Given the description of an element on the screen output the (x, y) to click on. 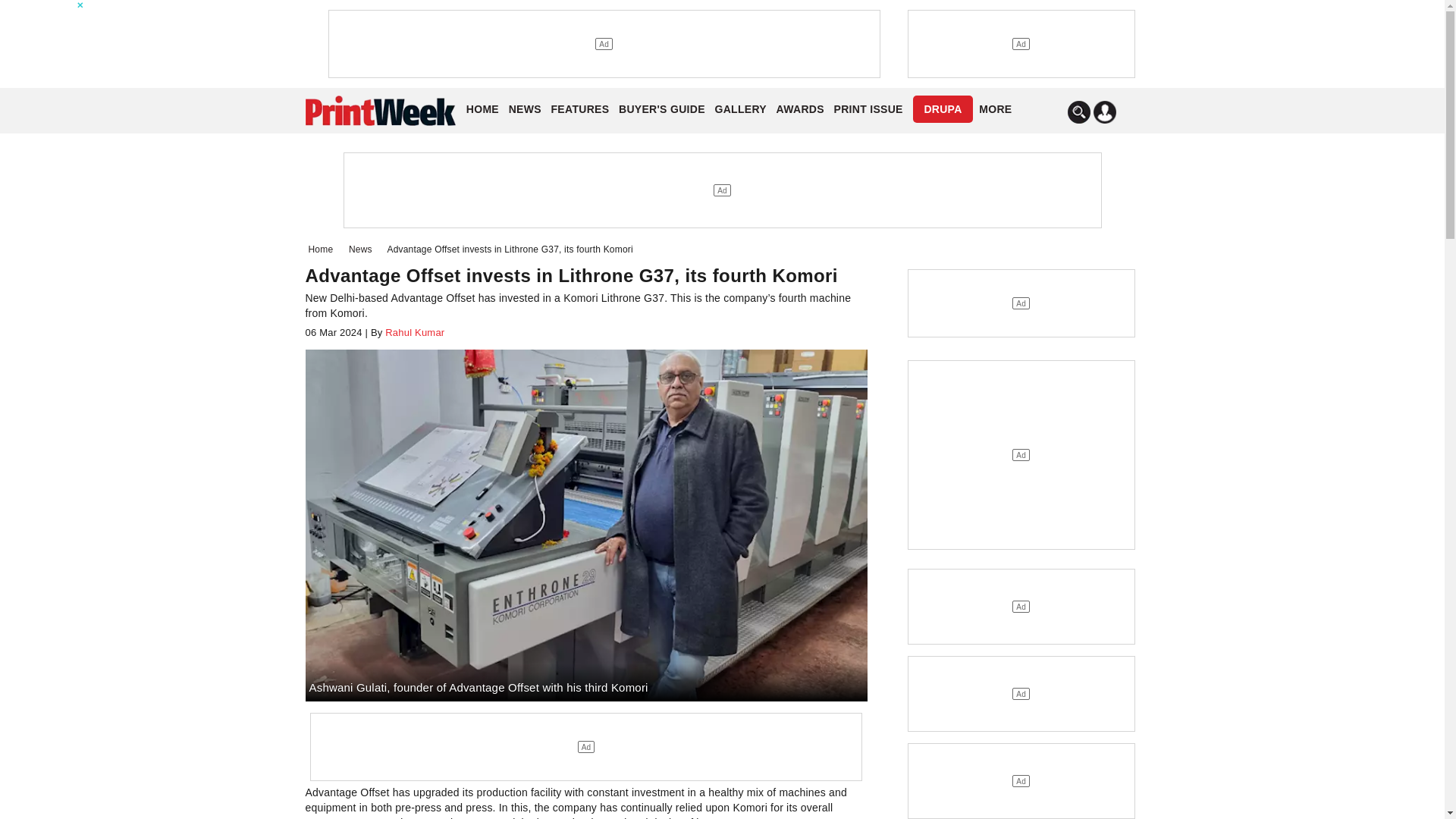
FEATURES (580, 109)
Search In PrintWeek India Website (1078, 111)
Drupa (942, 108)
News (363, 249)
PRINT ISSUE (868, 109)
AWARDS (800, 109)
GALLERY (739, 109)
Buyer's Guide (661, 109)
Rahul Kumar (412, 332)
Home (323, 249)
